Given the description of an element on the screen output the (x, y) to click on. 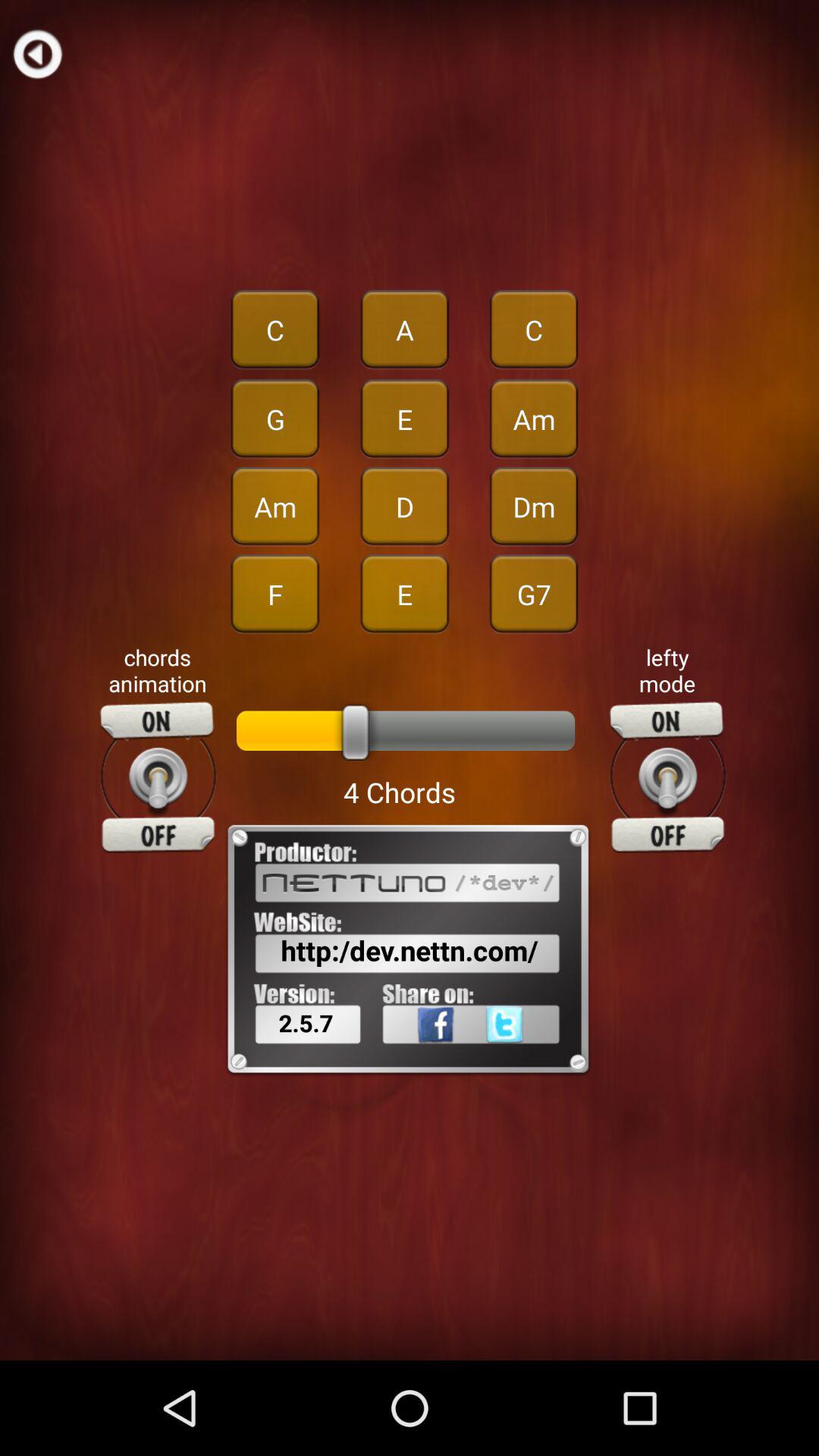
open http dev nettn icon (409, 950)
